Given the description of an element on the screen output the (x, y) to click on. 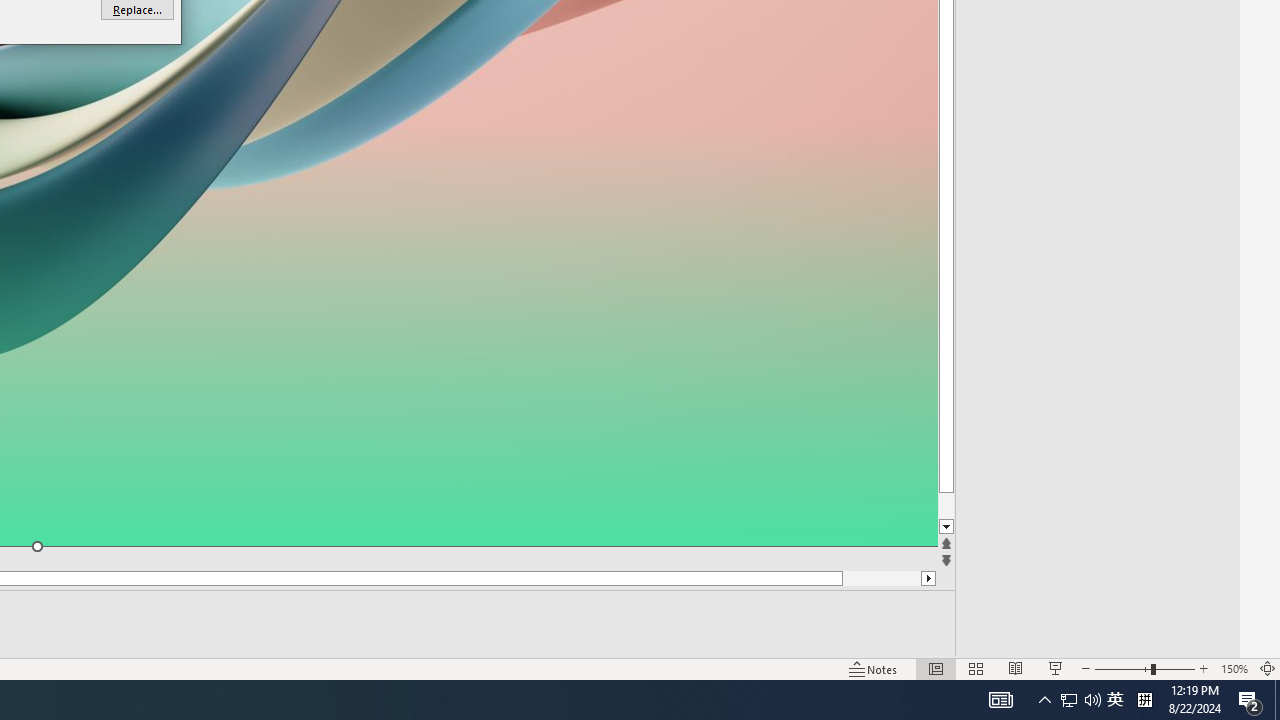
Action Center, 2 new notifications (1250, 699)
Zoom 150% (1234, 668)
